Given the description of an element on the screen output the (x, y) to click on. 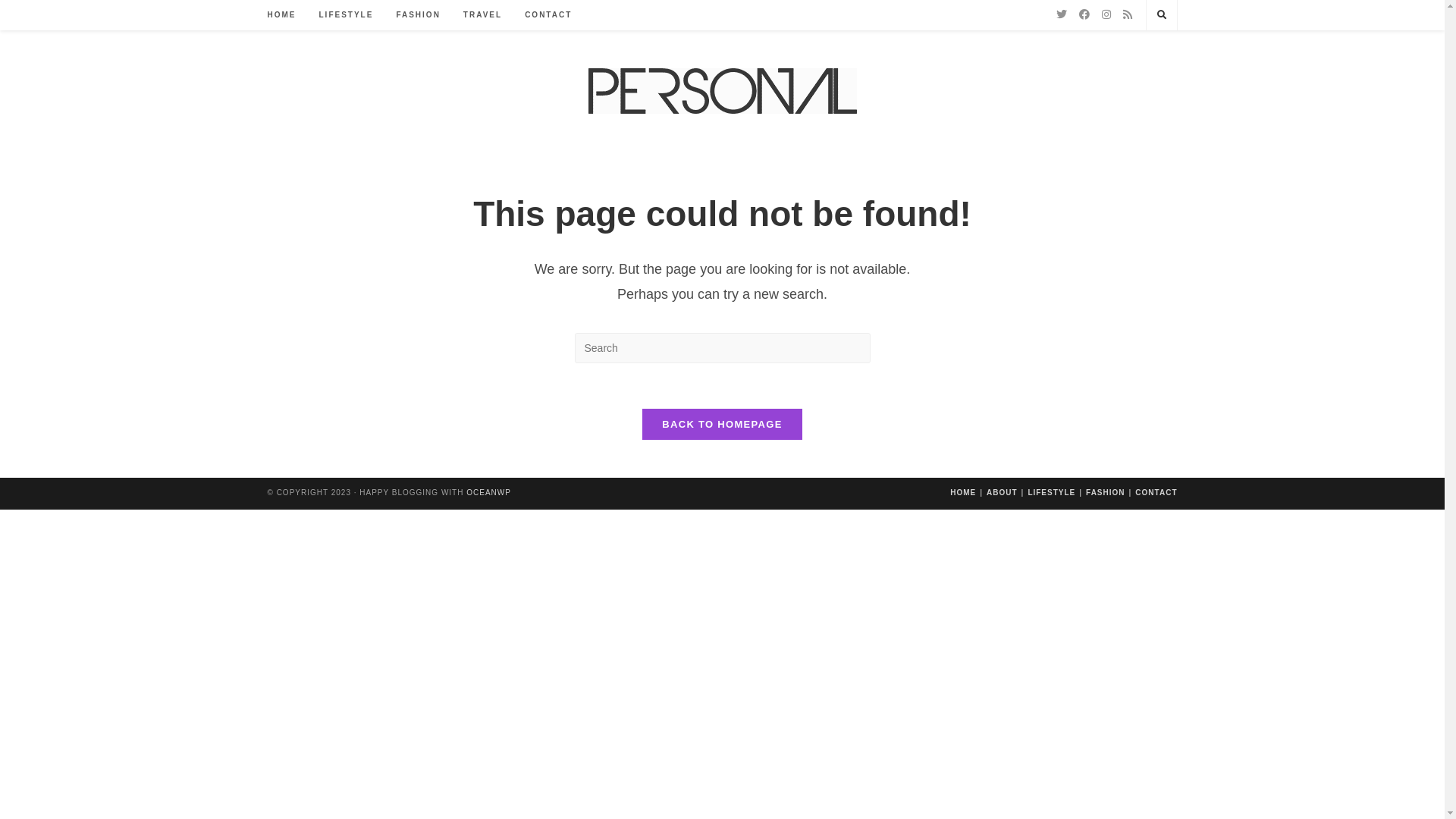
FASHION Element type: text (1104, 492)
CONTACT Element type: text (1155, 492)
LIFESTYLE Element type: text (1051, 492)
CONTACT Element type: text (548, 15)
TRAVEL Element type: text (482, 15)
BACK TO HOMEPAGE Element type: text (721, 423)
LIFESTYLE Element type: text (346, 15)
OCEANWP Element type: text (488, 492)
HOME Element type: text (281, 15)
ABOUT Element type: text (1001, 492)
HOME Element type: text (962, 492)
FASHION Element type: text (417, 15)
